Given the description of an element on the screen output the (x, y) to click on. 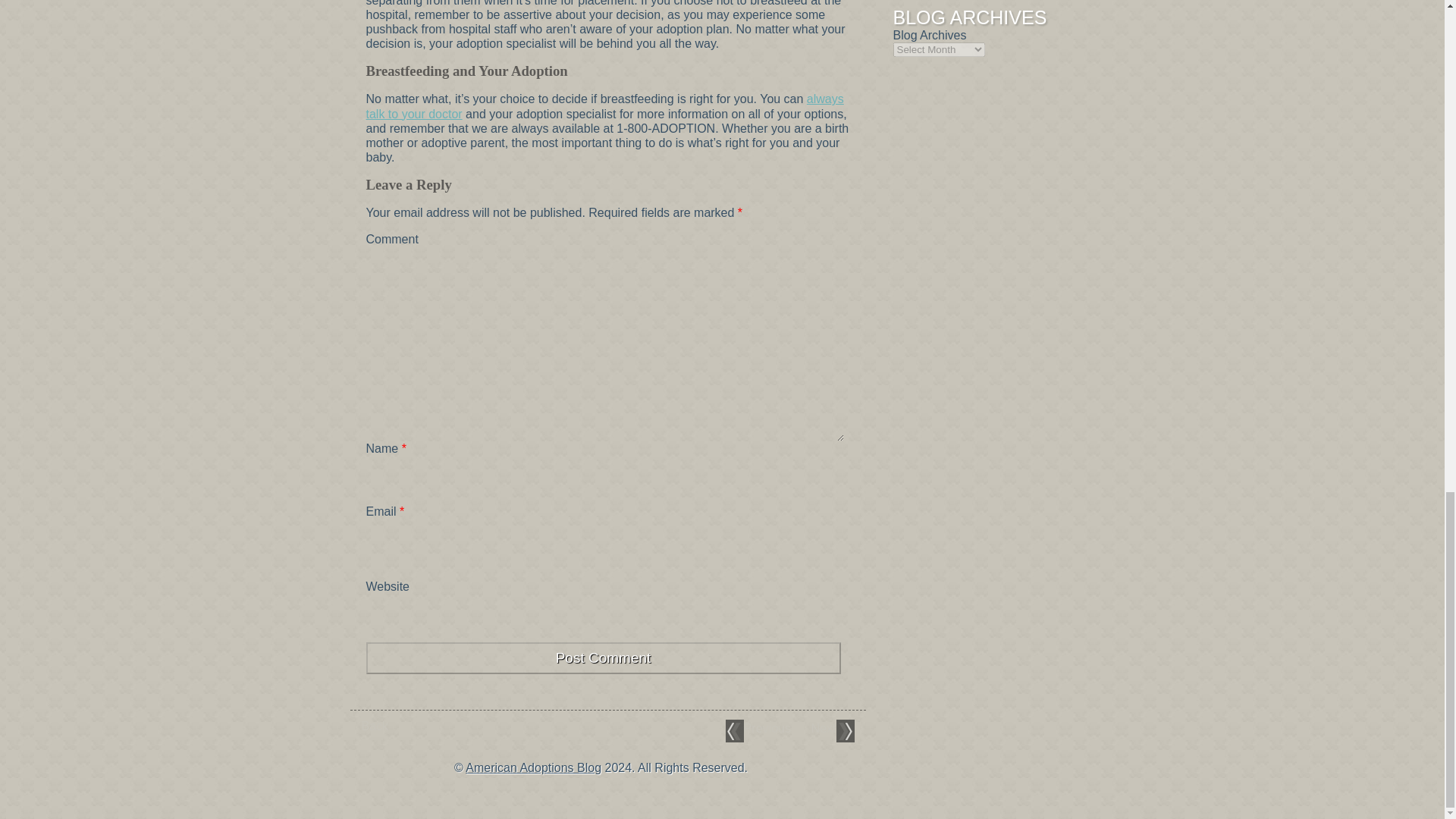
Post Comment (602, 658)
Post Comment (602, 658)
always talk to your doctor (604, 105)
